Given the description of an element on the screen output the (x, y) to click on. 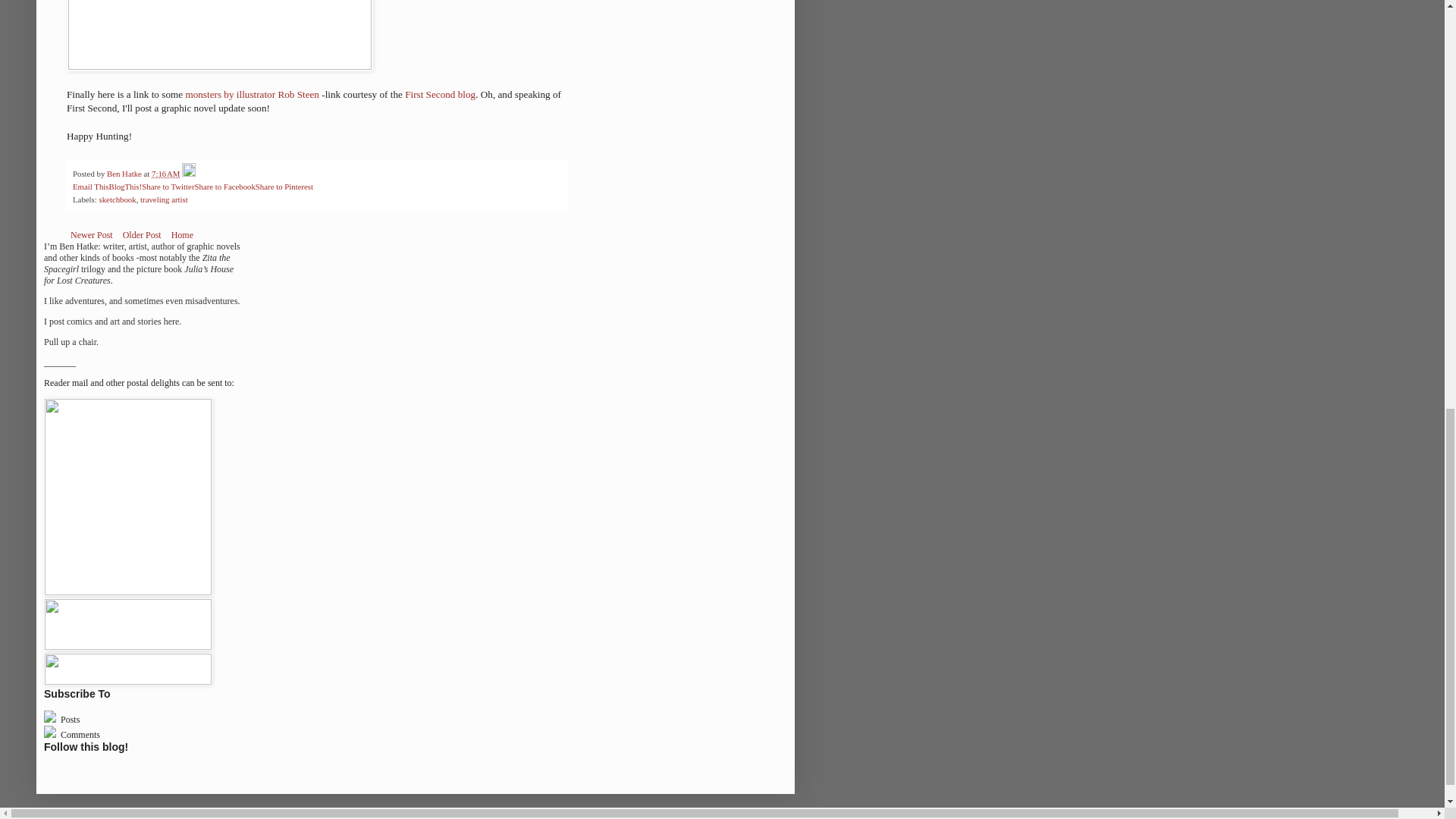
Share to Twitter (167, 185)
Older Post (142, 235)
permanent link (165, 173)
Share to Twitter (167, 185)
Email This (89, 185)
Email This (89, 185)
Share to Facebook (223, 185)
Share to Pinterest (284, 185)
BlogThis! (124, 185)
BlogThis! (124, 185)
First Second blog (440, 93)
author profile (125, 173)
Share to Facebook (223, 185)
Newer Post (91, 235)
